Given the description of an element on the screen output the (x, y) to click on. 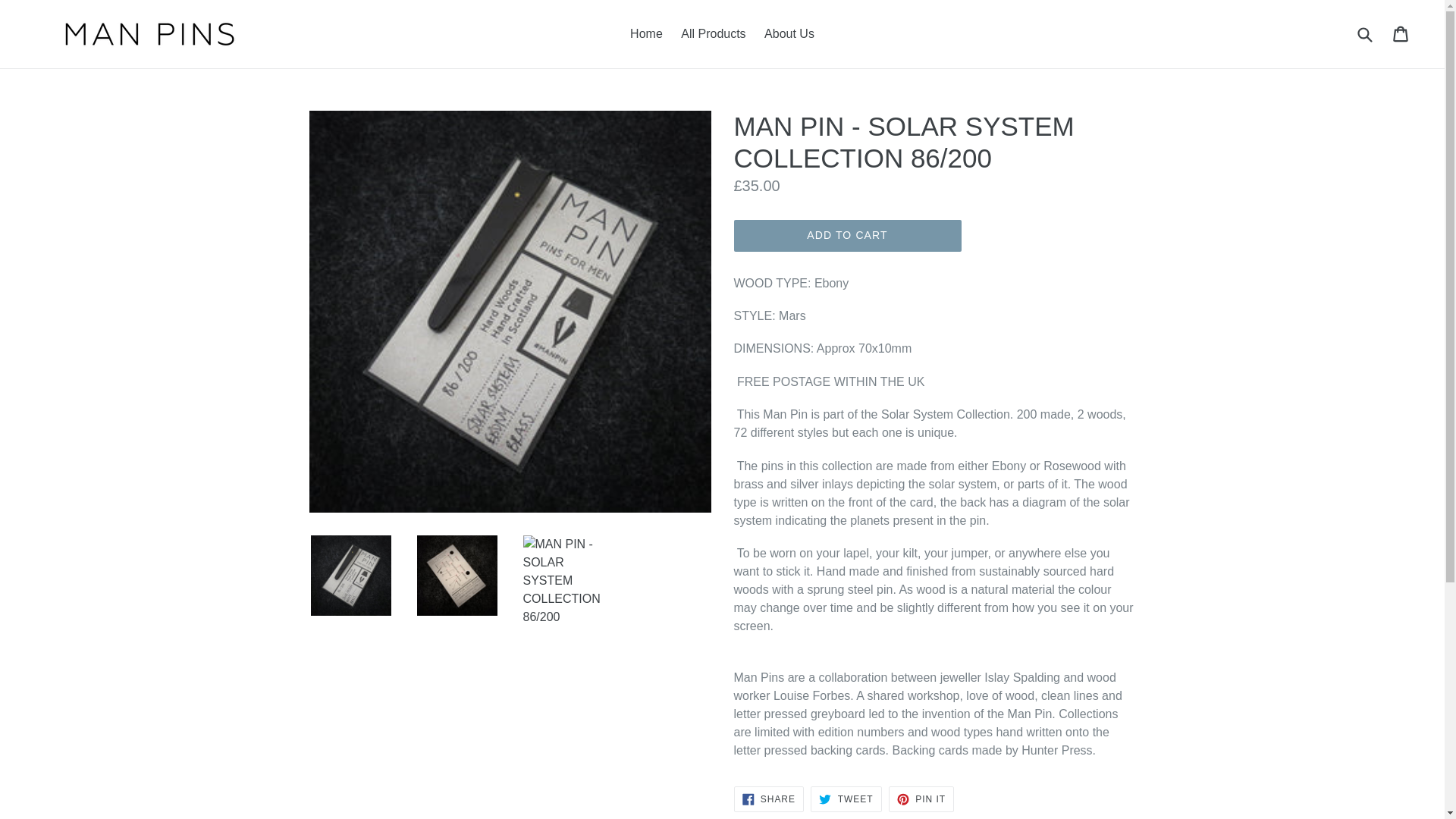
Share on Facebook (768, 799)
Pin on Pinterest (920, 799)
About Us (789, 33)
ADD TO CART (846, 235)
Home (646, 33)
All Products (920, 799)
Submit (845, 799)
Tweet on Twitter (712, 33)
